Given the description of an element on the screen output the (x, y) to click on. 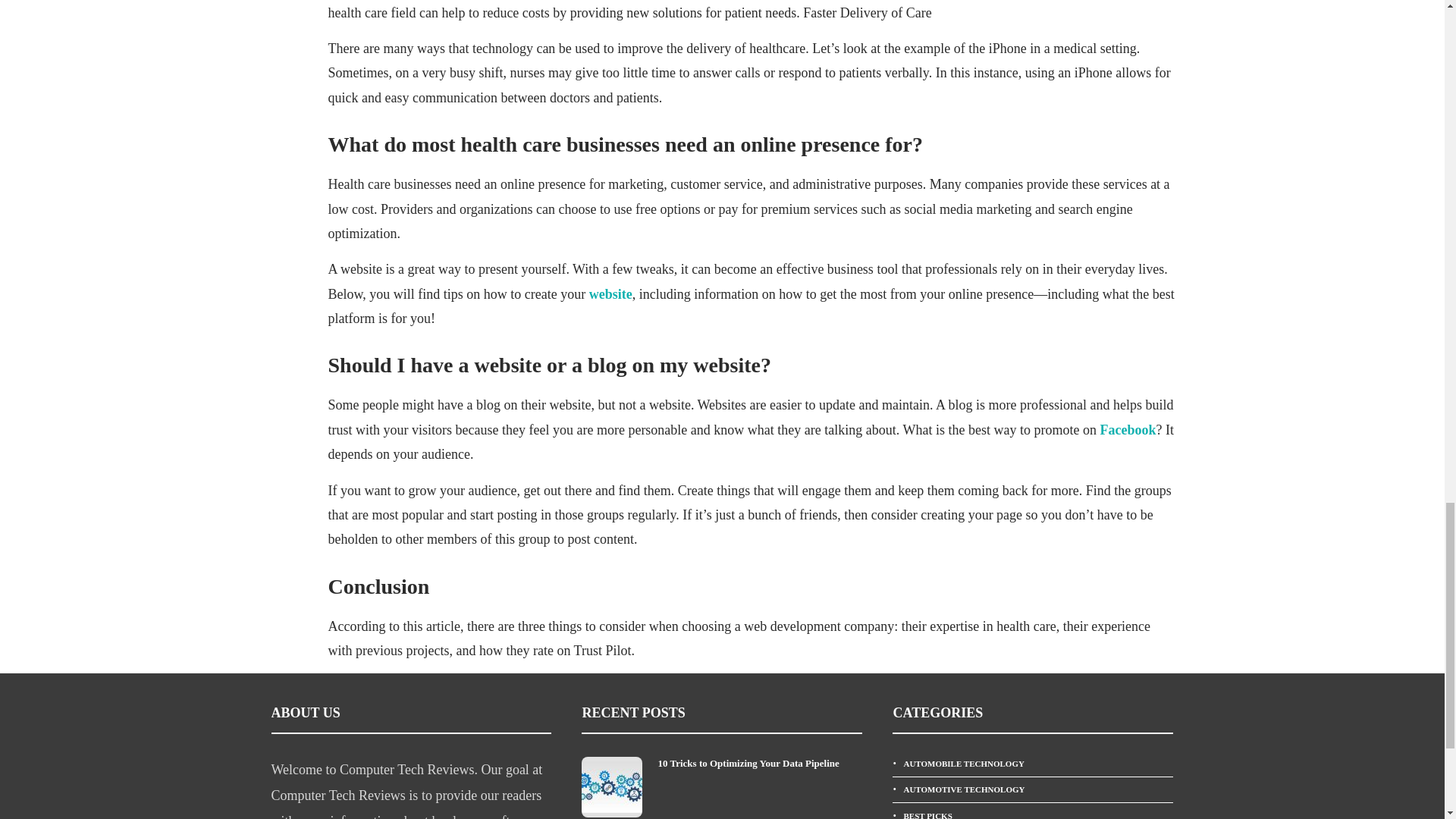
website (610, 294)
10 Tricks to Optimizing Your Data Pipeline (759, 763)
Facebook (1127, 429)
